Given the description of an element on the screen output the (x, y) to click on. 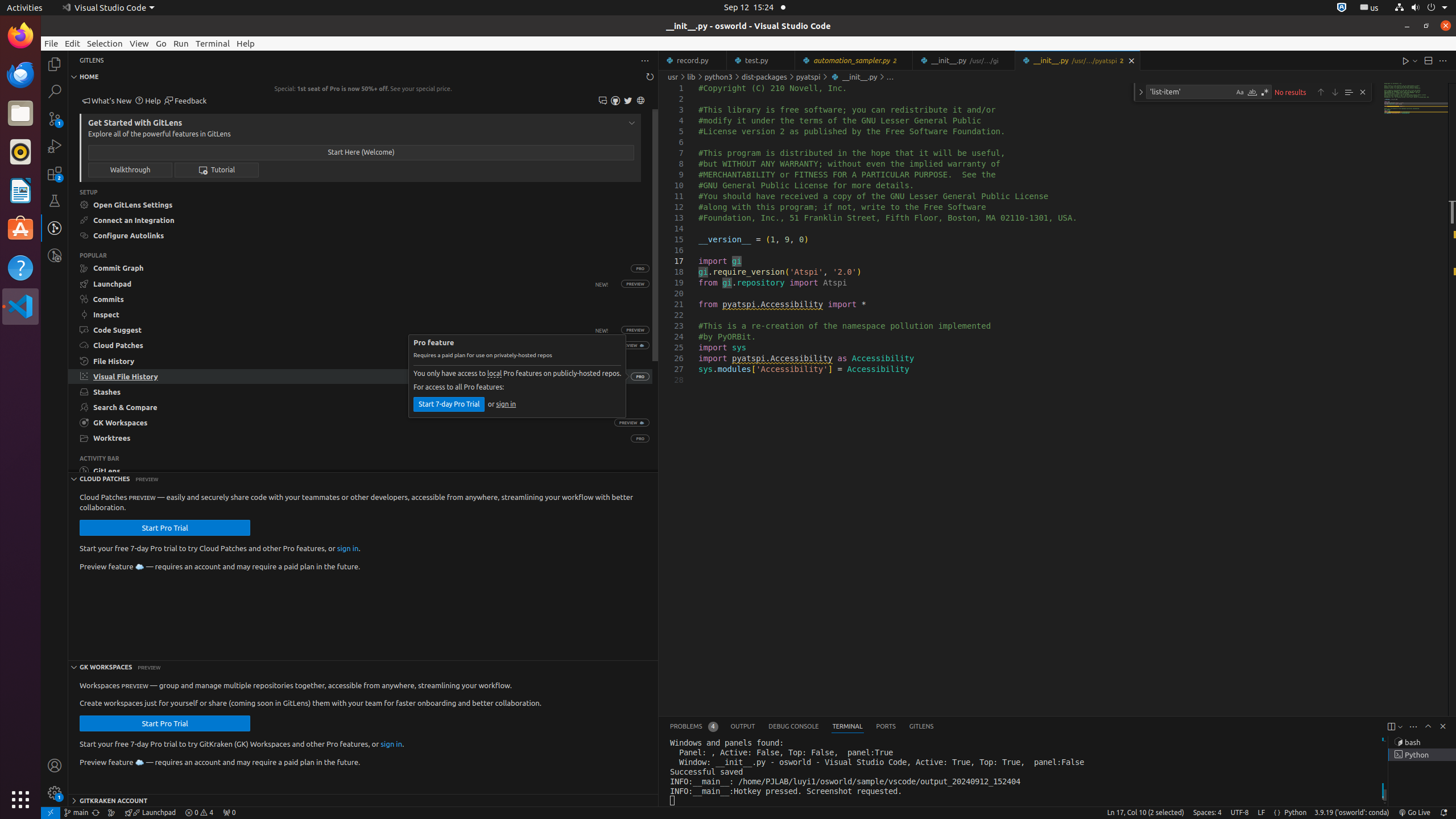
Help Center Element type: link (147, 100)
Manage - New Code update available. Element type: push-button (54, 792)
Previous Match (Shift+Enter) Element type: push-button (1320, 91)
Output (Ctrl+K Ctrl+H) Element type: page-tab (742, 726)
